Given the description of an element on the screen output the (x, y) to click on. 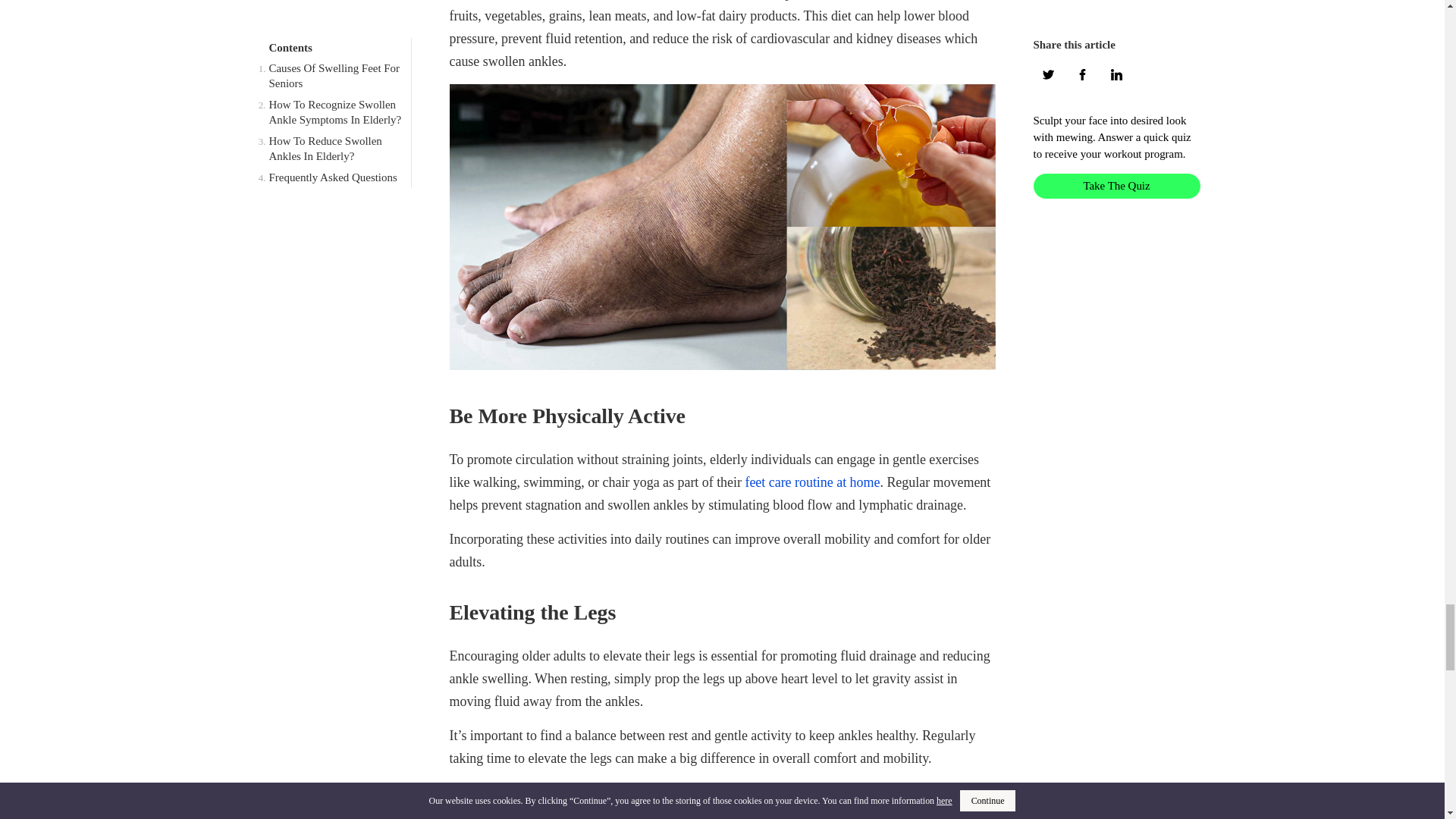
feet care routine at home (811, 482)
